Given the description of an element on the screen output the (x, y) to click on. 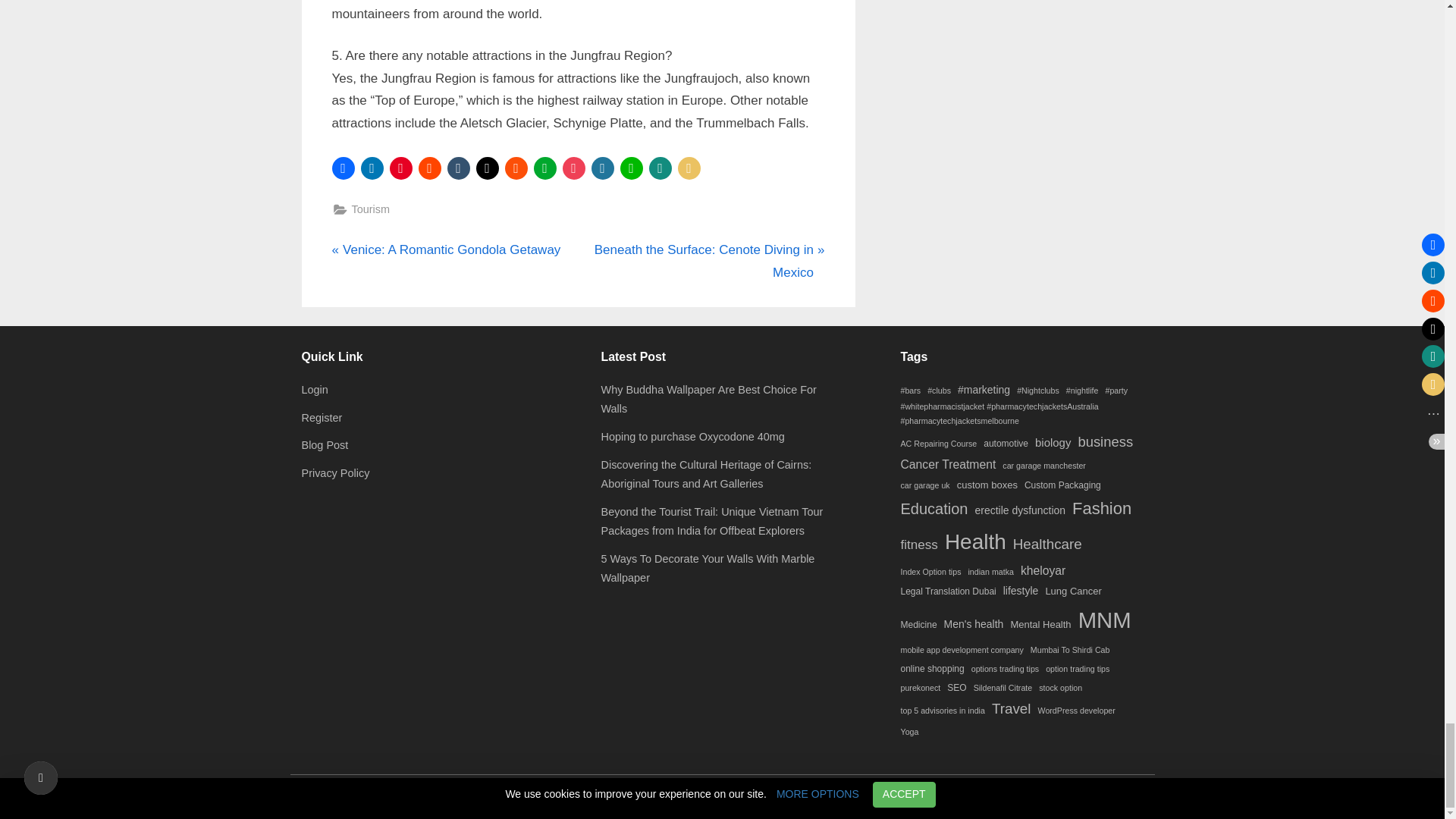
Tourism (371, 209)
